Given the description of an element on the screen output the (x, y) to click on. 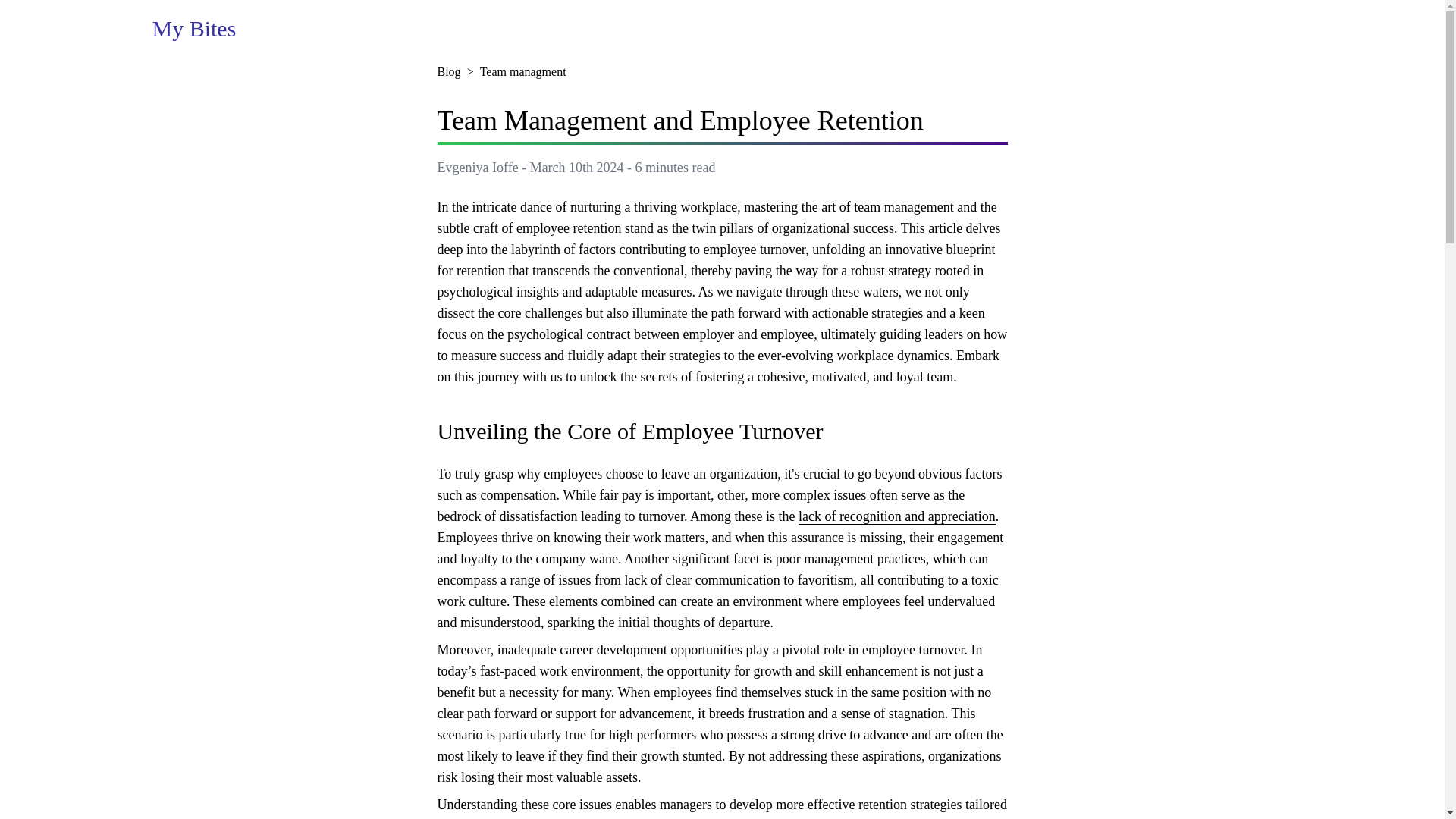
Team managment (523, 72)
lack of recognition and appreciation (896, 516)
My Bites (193, 28)
Blog (448, 72)
